Given the description of an element on the screen output the (x, y) to click on. 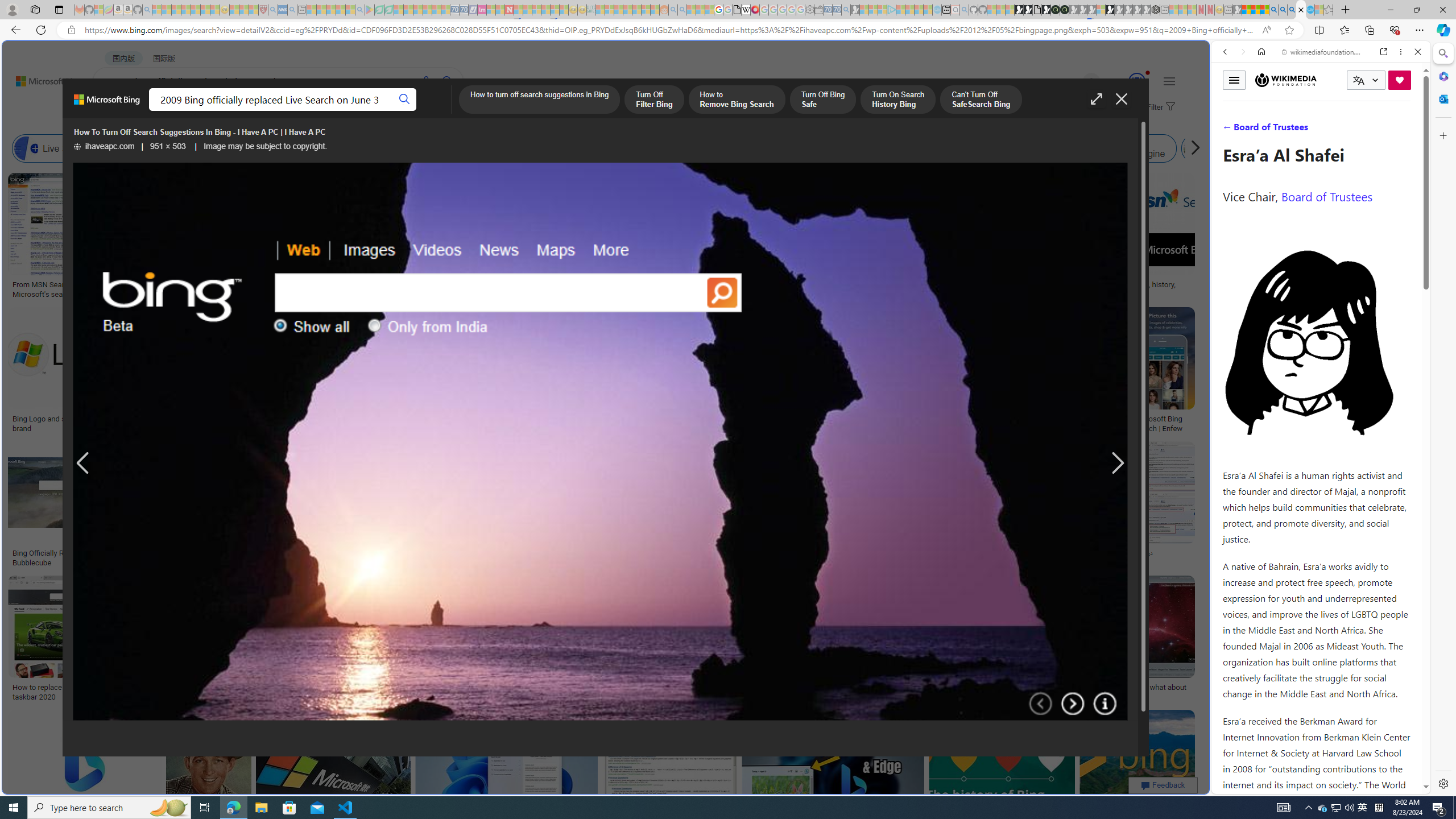
Sign in to your account - Sleeping (1100, 9)
Microsoft Bing Search | Enfew (1162, 423)
Frequently visited (965, 151)
Bing - SEOLend (278, 552)
Bing Best Search Engine (684, 148)
How to replace Bing in Windows 10 search on the taskbar 2020 (93, 691)
